Given the description of an element on the screen output the (x, y) to click on. 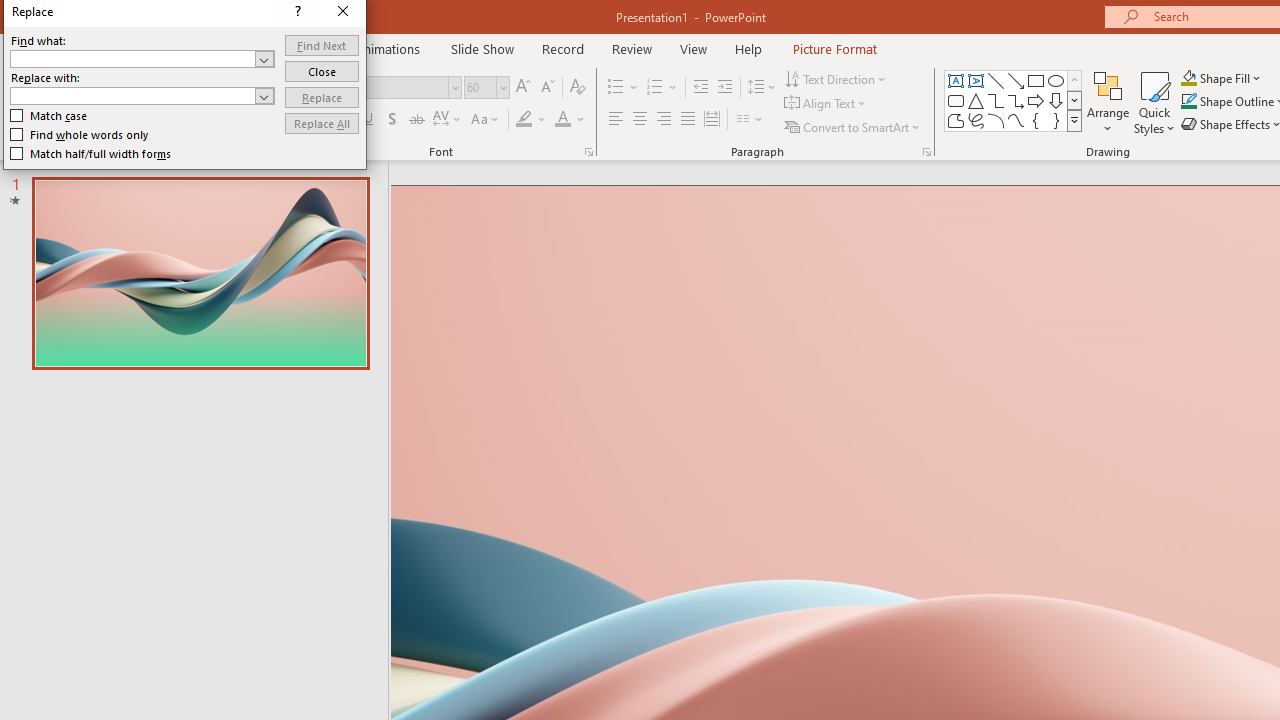
Find Next (654, 278)
